Given the description of an element on the screen output the (x, y) to click on. 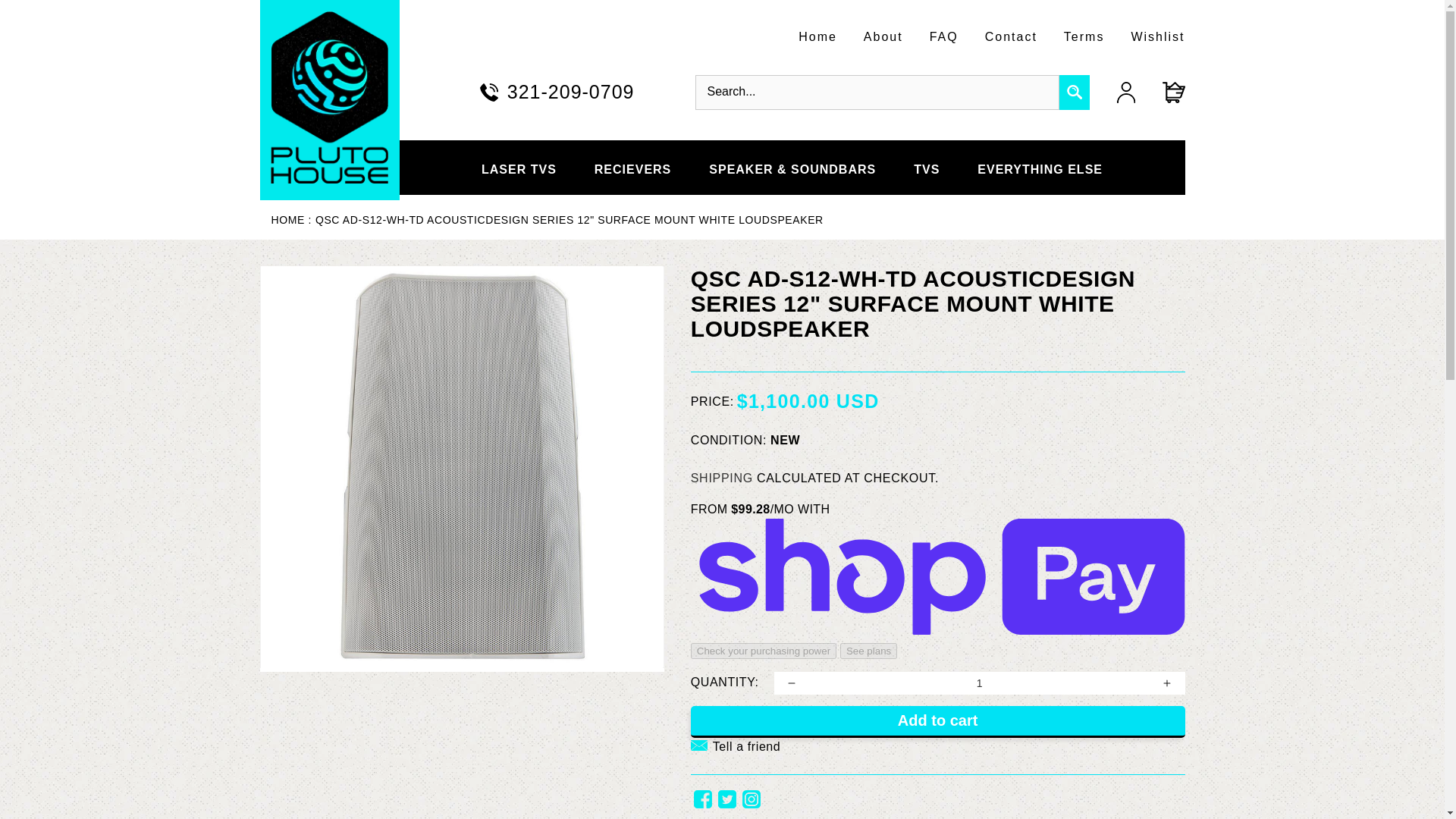
About (882, 36)
LASER TVS (519, 167)
RECIEVERS (632, 167)
Home (290, 219)
HOME : (290, 219)
EVERYTHING ELSE (1039, 167)
Wishlist (1158, 36)
FAQ (944, 36)
Cart (1159, 92)
Home (817, 36)
Contact (1010, 36)
Terms (1084, 36)
TVS (926, 167)
SHIPPING (721, 477)
1 (979, 682)
